Given the description of an element on the screen output the (x, y) to click on. 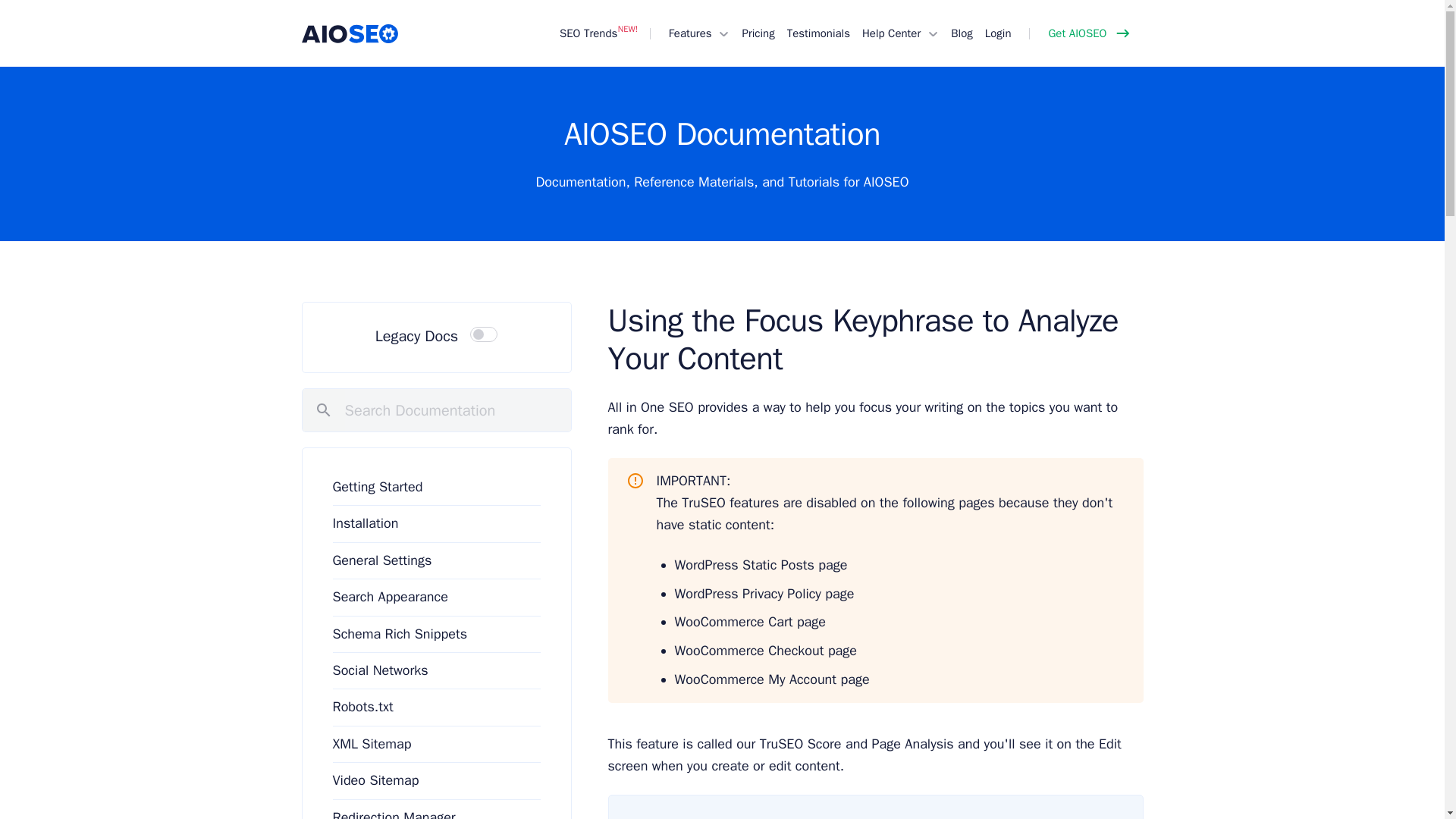
Getting Started (376, 486)
Pricing (758, 33)
Get AIOSEO (1086, 33)
Installation (364, 523)
Testimonials (818, 33)
Blog (961, 33)
Login (997, 33)
Help Center (888, 33)
Features (686, 33)
